Given the description of an element on the screen output the (x, y) to click on. 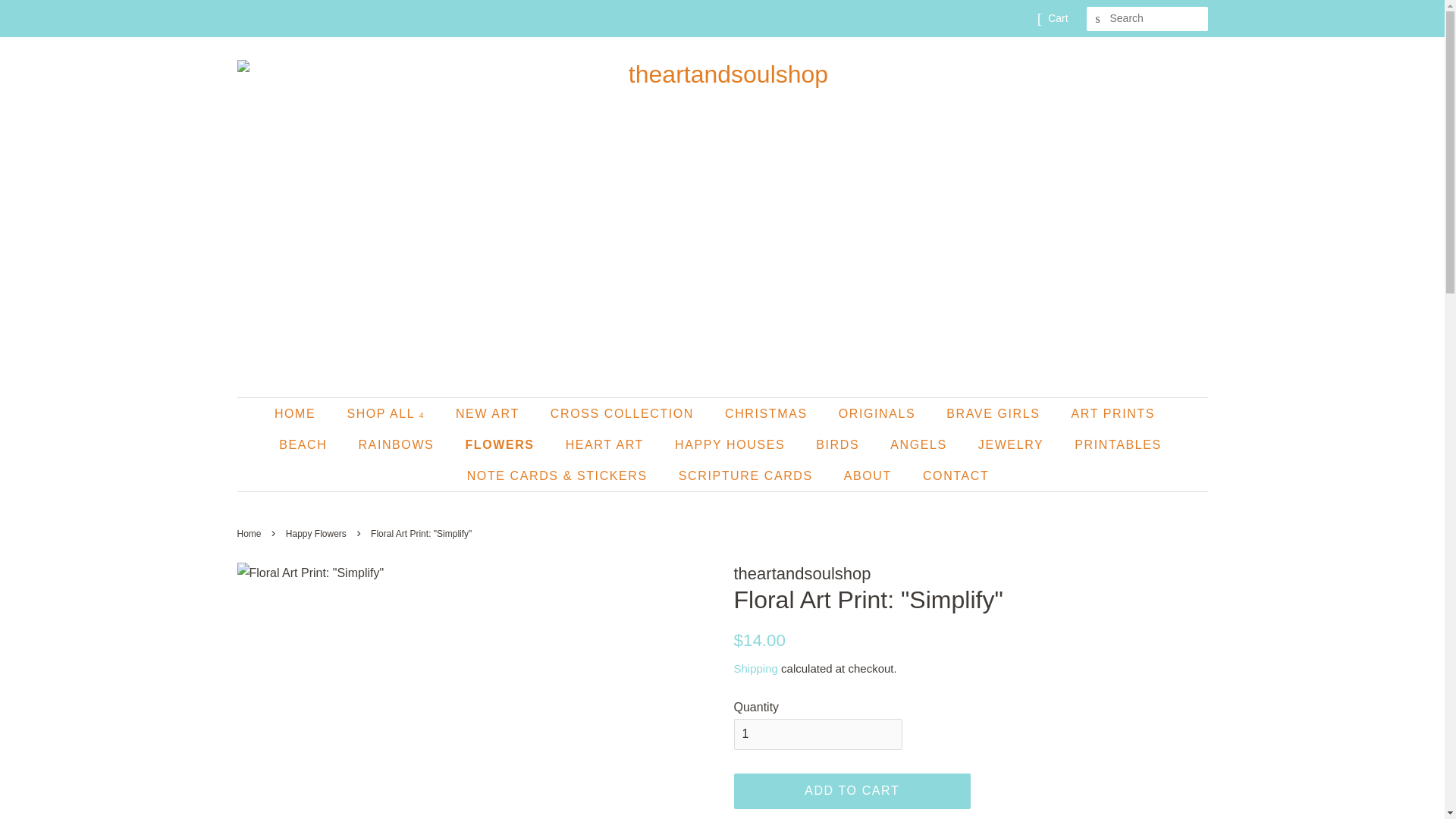
Cart (1057, 18)
SEARCH (1097, 18)
Back to the frontpage (249, 533)
SHOP ALL (386, 413)
1 (817, 734)
HOME (302, 413)
